Given the description of an element on the screen output the (x, y) to click on. 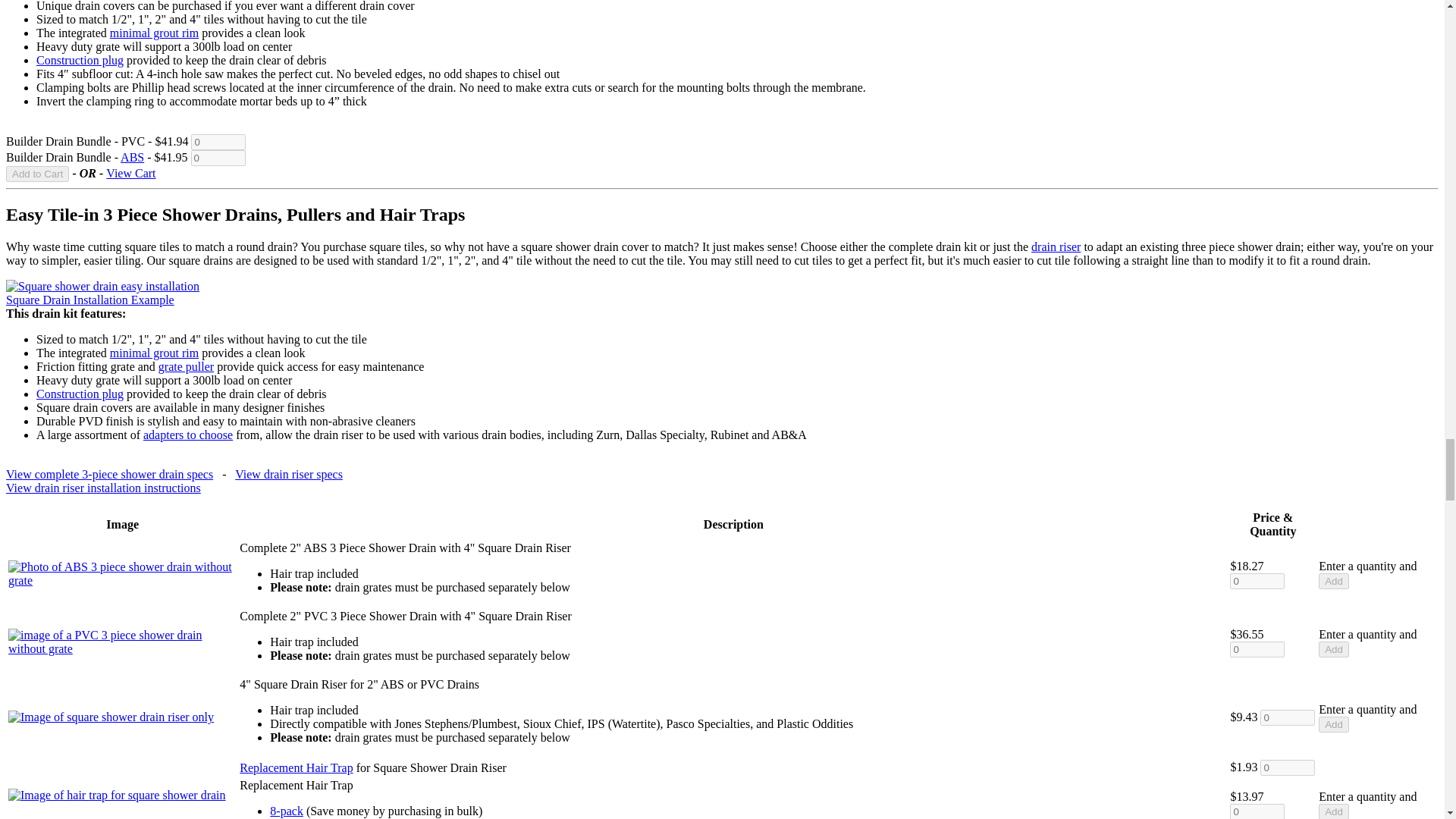
Add (1334, 649)
Ebbe Square Shower Drain ABS Builder Bundle (132, 156)
Learn more about the grout rim in our FAQ's (154, 32)
Learn more about the construction plug in our FAQ's (79, 60)
Add (1334, 724)
Add (1334, 811)
Go to drain risers on this page (1055, 246)
Add (1334, 580)
Click here to add items to your shopping cart (36, 173)
